Given the description of an element on the screen output the (x, y) to click on. 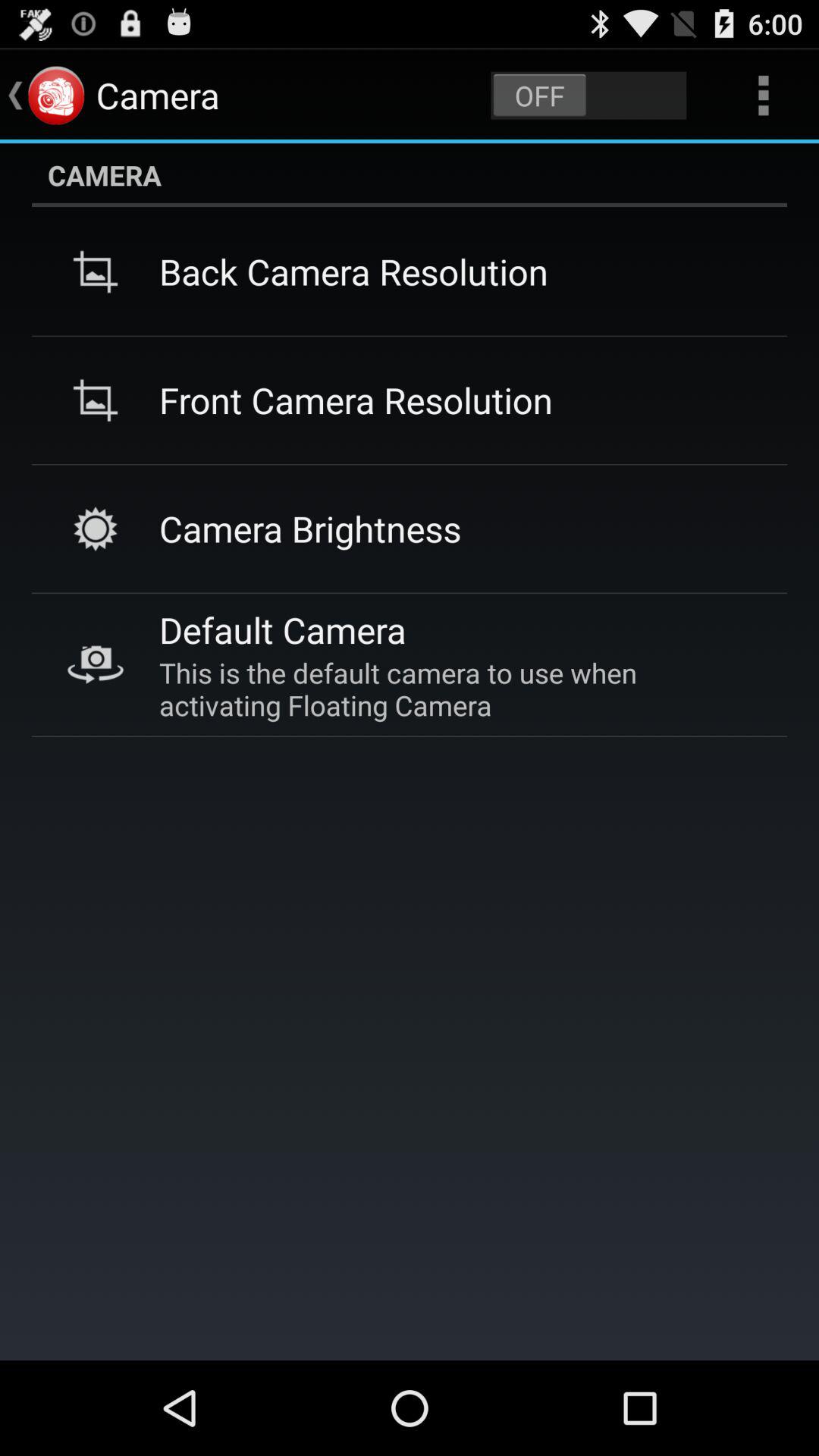
turn off the item above camera (763, 95)
